Given the description of an element on the screen output the (x, y) to click on. 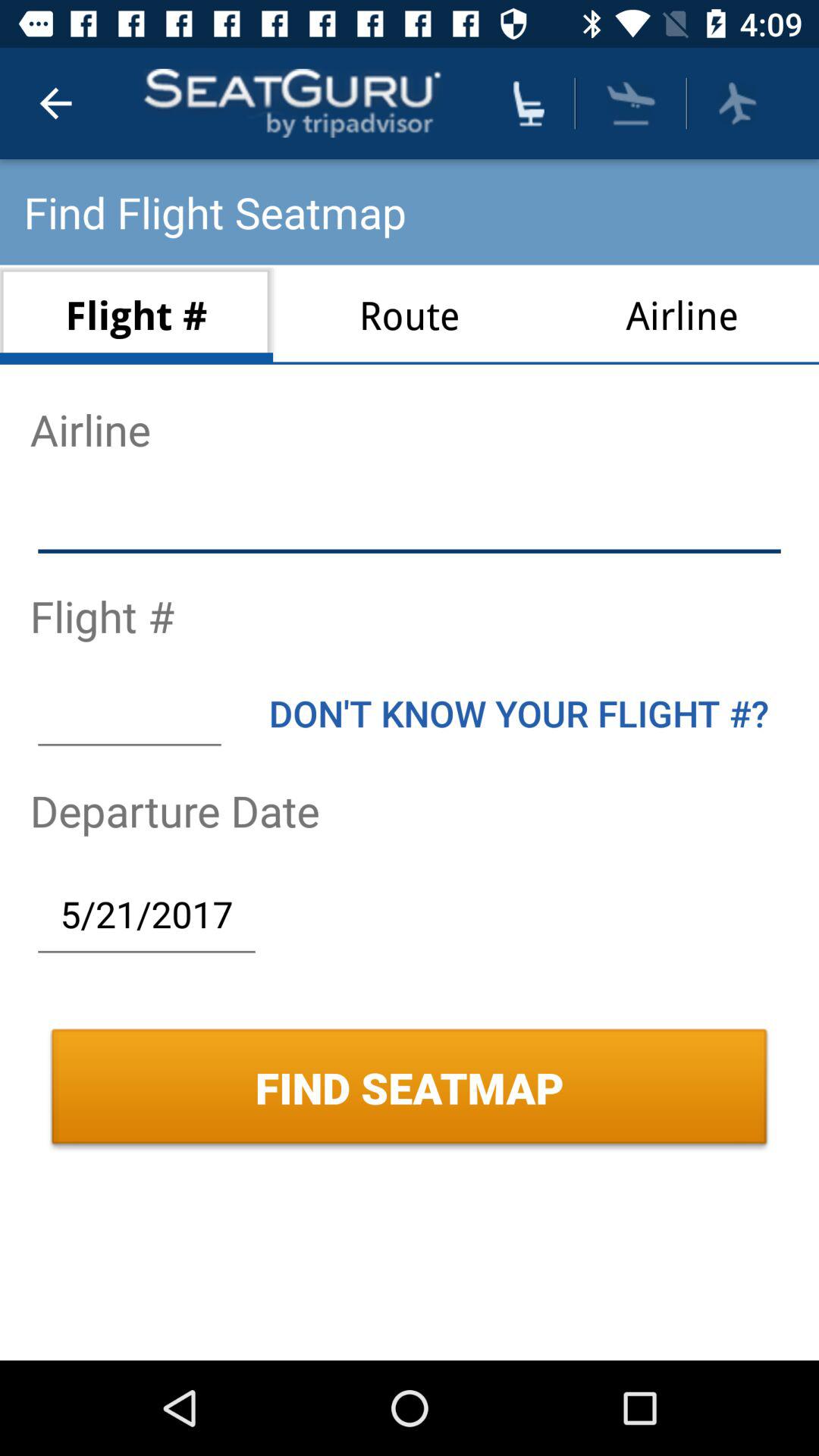
turn on item to the left of airline icon (409, 314)
